Given the description of an element on the screen output the (x, y) to click on. 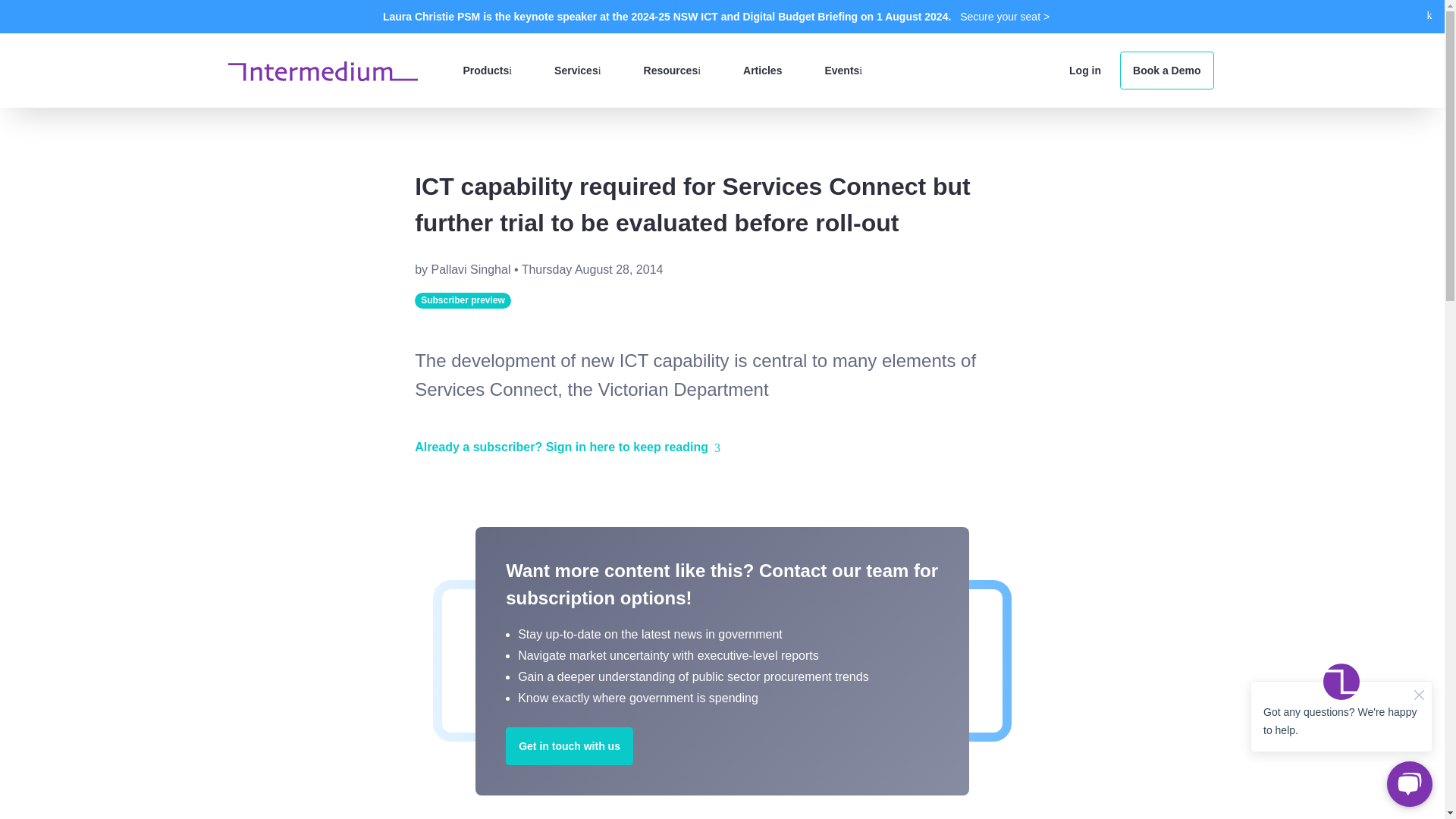
Events (843, 70)
Book a Demo (1165, 70)
Products (486, 70)
Articles (762, 70)
Services (576, 70)
Resources (672, 70)
Log in (1085, 70)
